Given the description of an element on the screen output the (x, y) to click on. 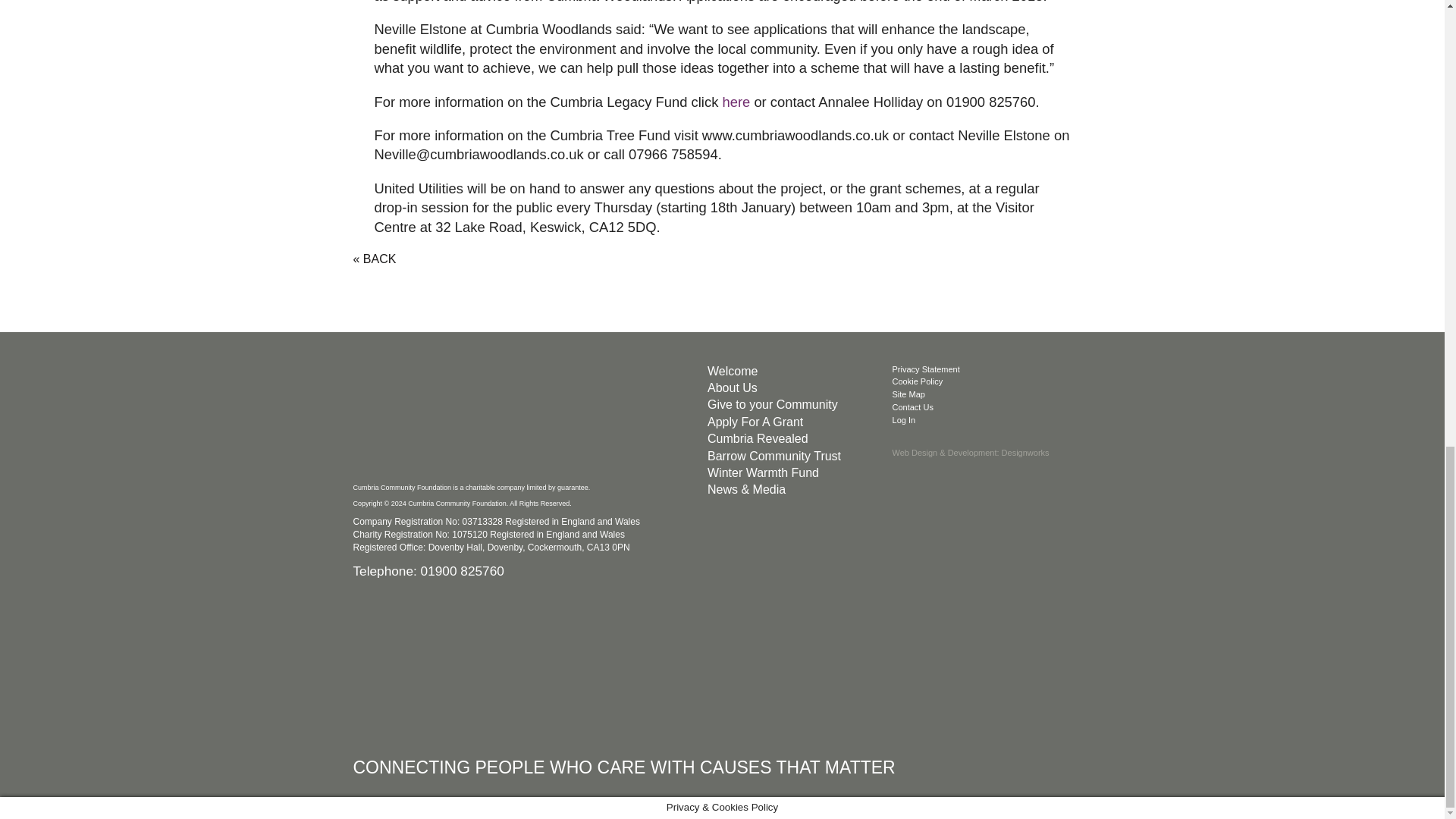
UK Community Foundations Member (466, 663)
FR-Fundraising-Badge-Mono-HR (720, 663)
ccf-logo (466, 418)
